Given the description of an element on the screen output the (x, y) to click on. 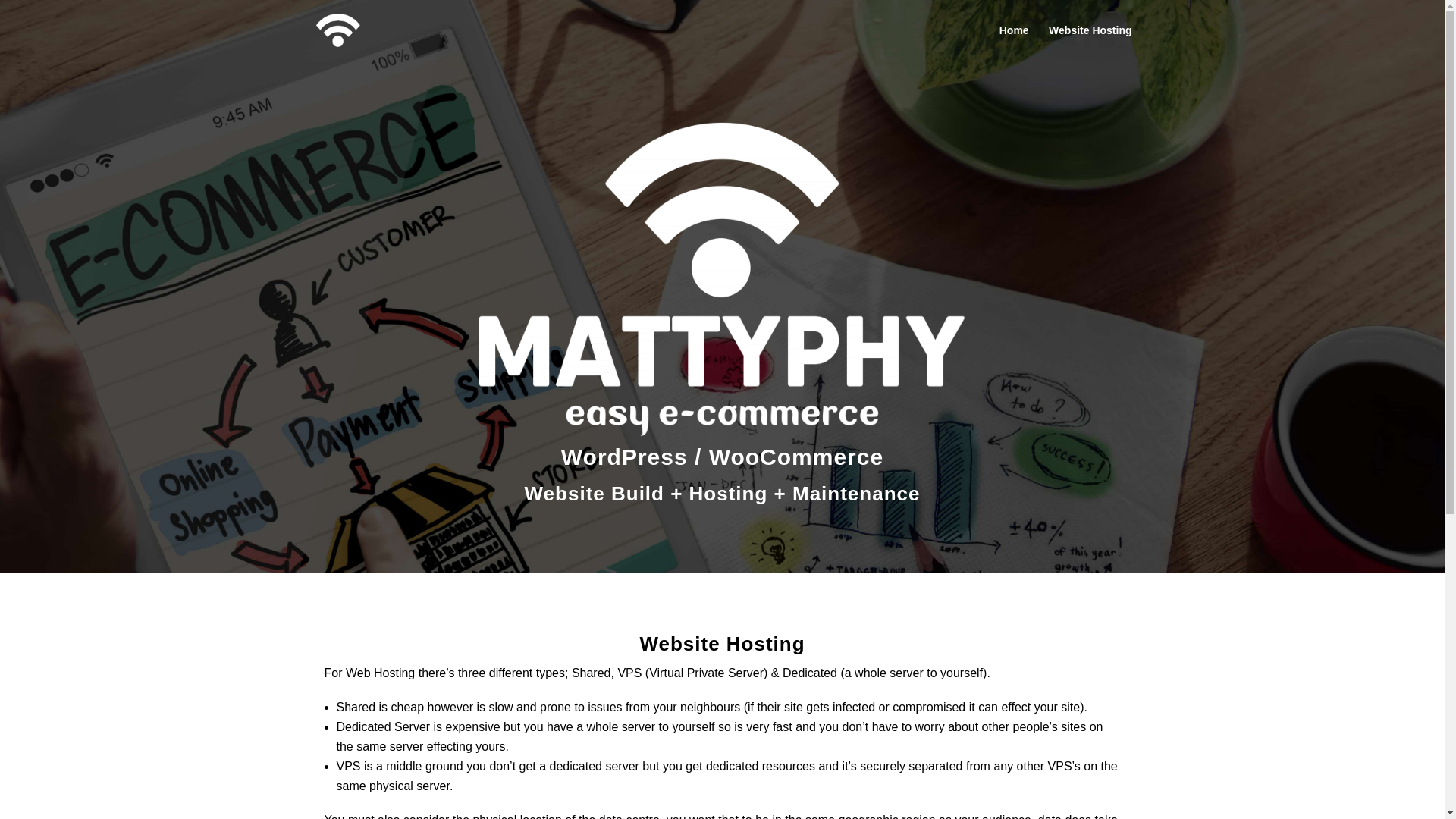
Home Element type: text (1014, 42)
Website Hosting Element type: text (1089, 42)
